Given the description of an element on the screen output the (x, y) to click on. 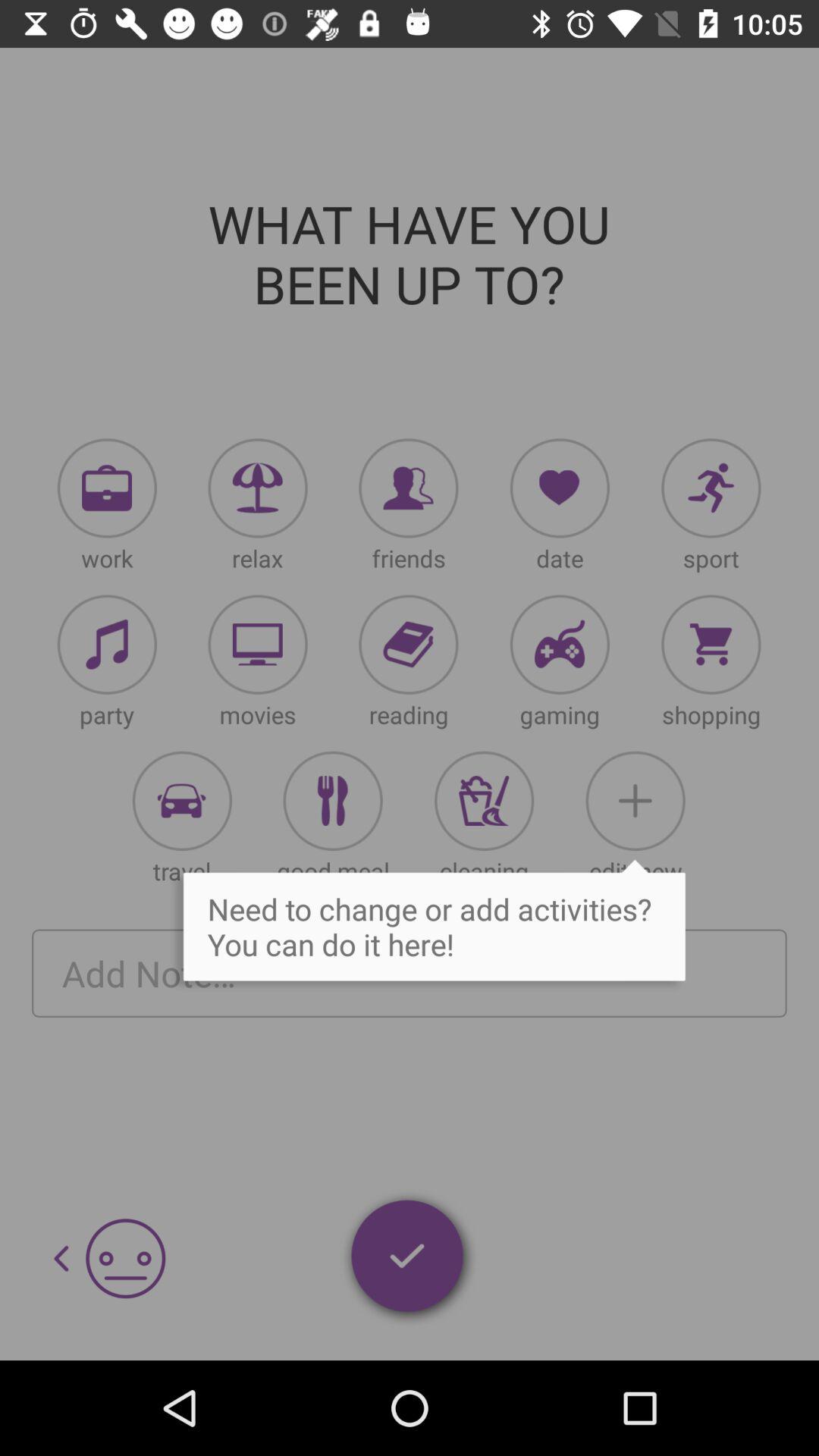
options to select (710, 488)
